Given the description of an element on the screen output the (x, y) to click on. 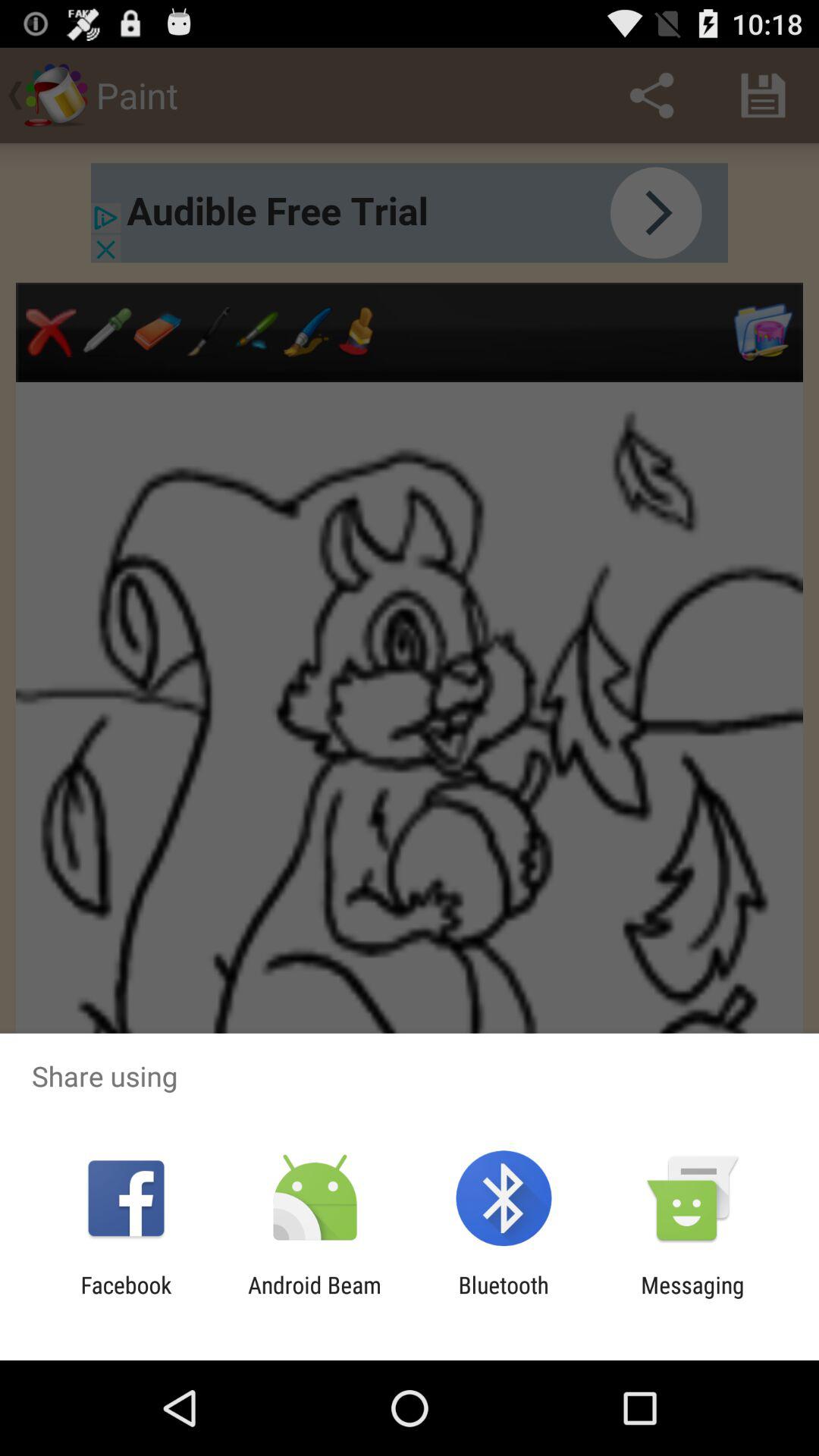
open messaging item (692, 1298)
